Given the description of an element on the screen output the (x, y) to click on. 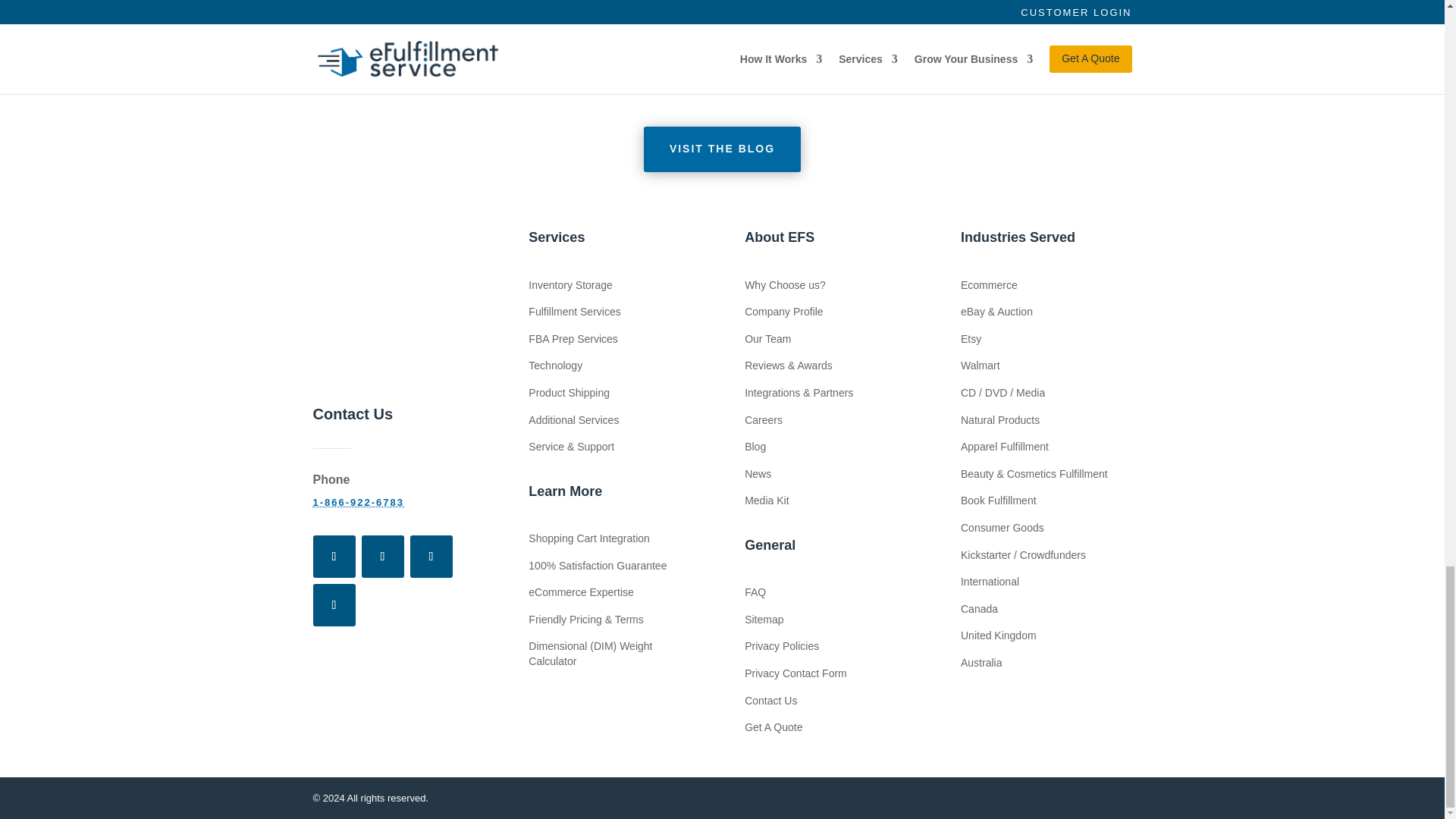
Follow on LinkedIn (334, 604)
Follow on X (382, 556)
Follow on Facebook (334, 556)
Follow on Youtube (430, 556)
